Given the description of an element on the screen output the (x, y) to click on. 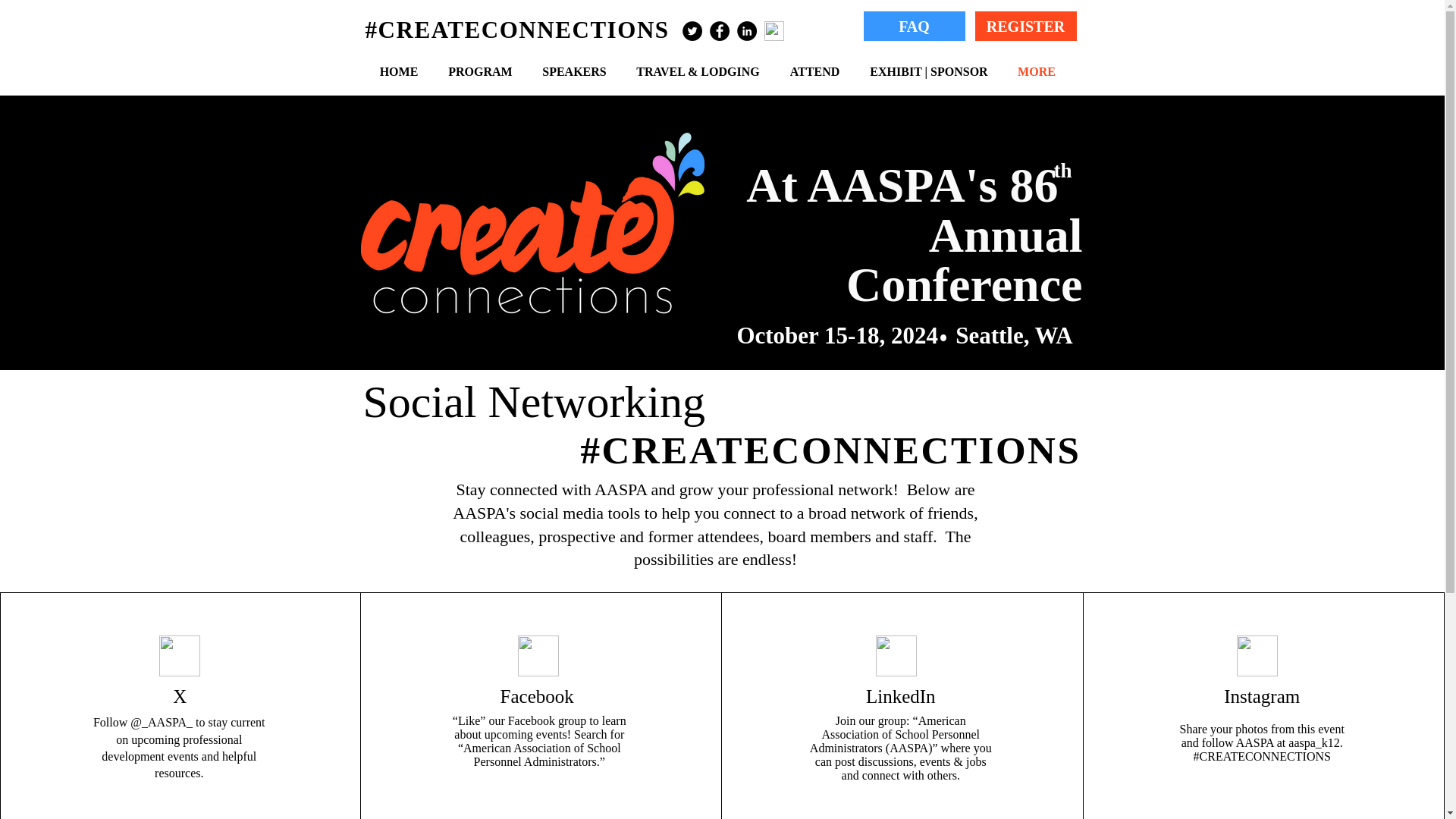
ATTEND (815, 71)
FAQ (913, 25)
MORE (1036, 71)
HOME (398, 71)
PROGRAM (480, 71)
SPEAKERS (574, 71)
REGISTER (1026, 25)
